Given the description of an element on the screen output the (x, y) to click on. 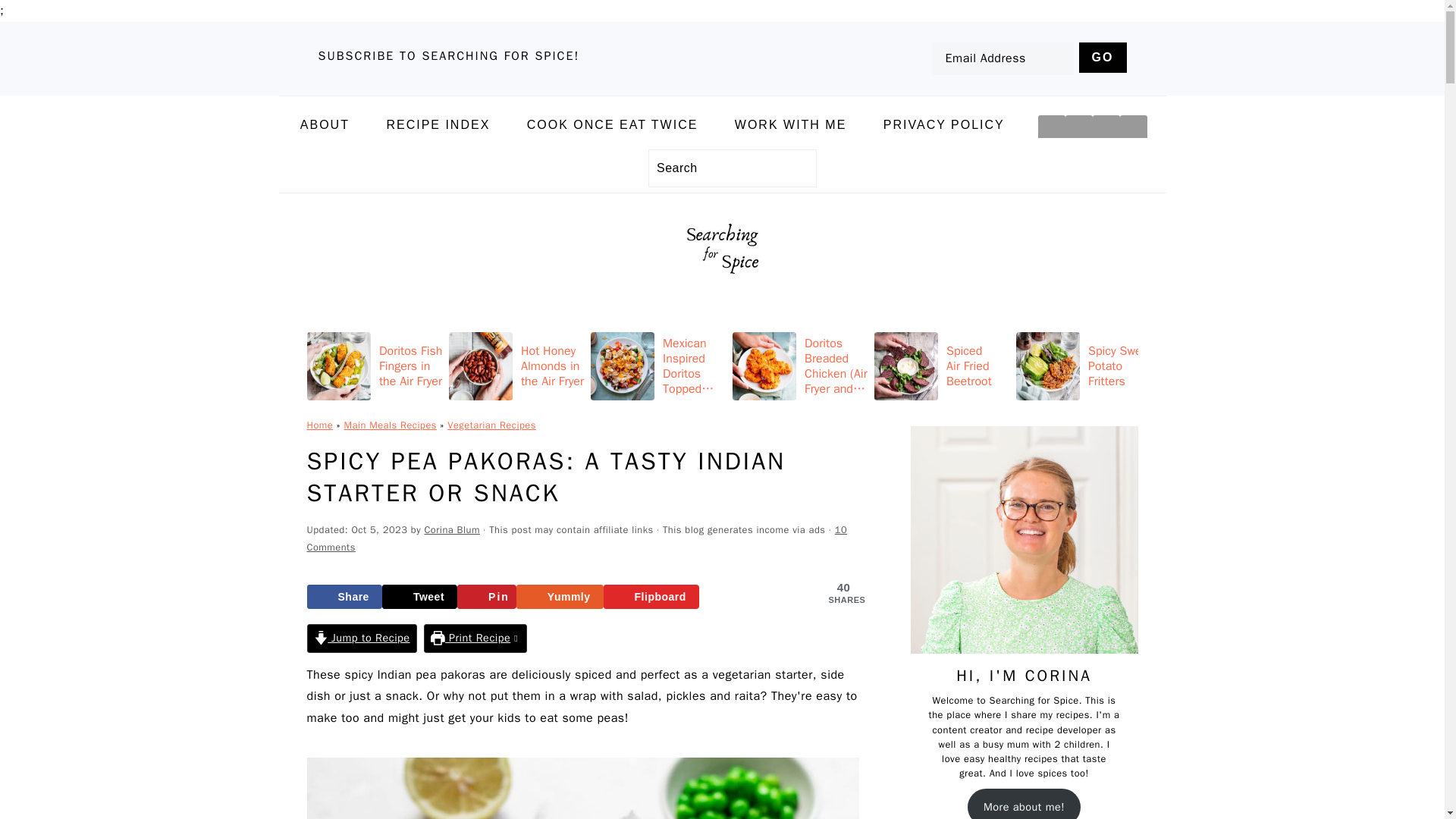
Twitter (1133, 128)
Instagram (1078, 128)
Searching for Spice (721, 295)
Share on Facebook (343, 596)
COOK ONCE EAT TWICE (612, 125)
Spiced Air Fried Beetroot (941, 365)
Doritos Fish Fingers in the Air Fryer (373, 365)
